Given the description of an element on the screen output the (x, y) to click on. 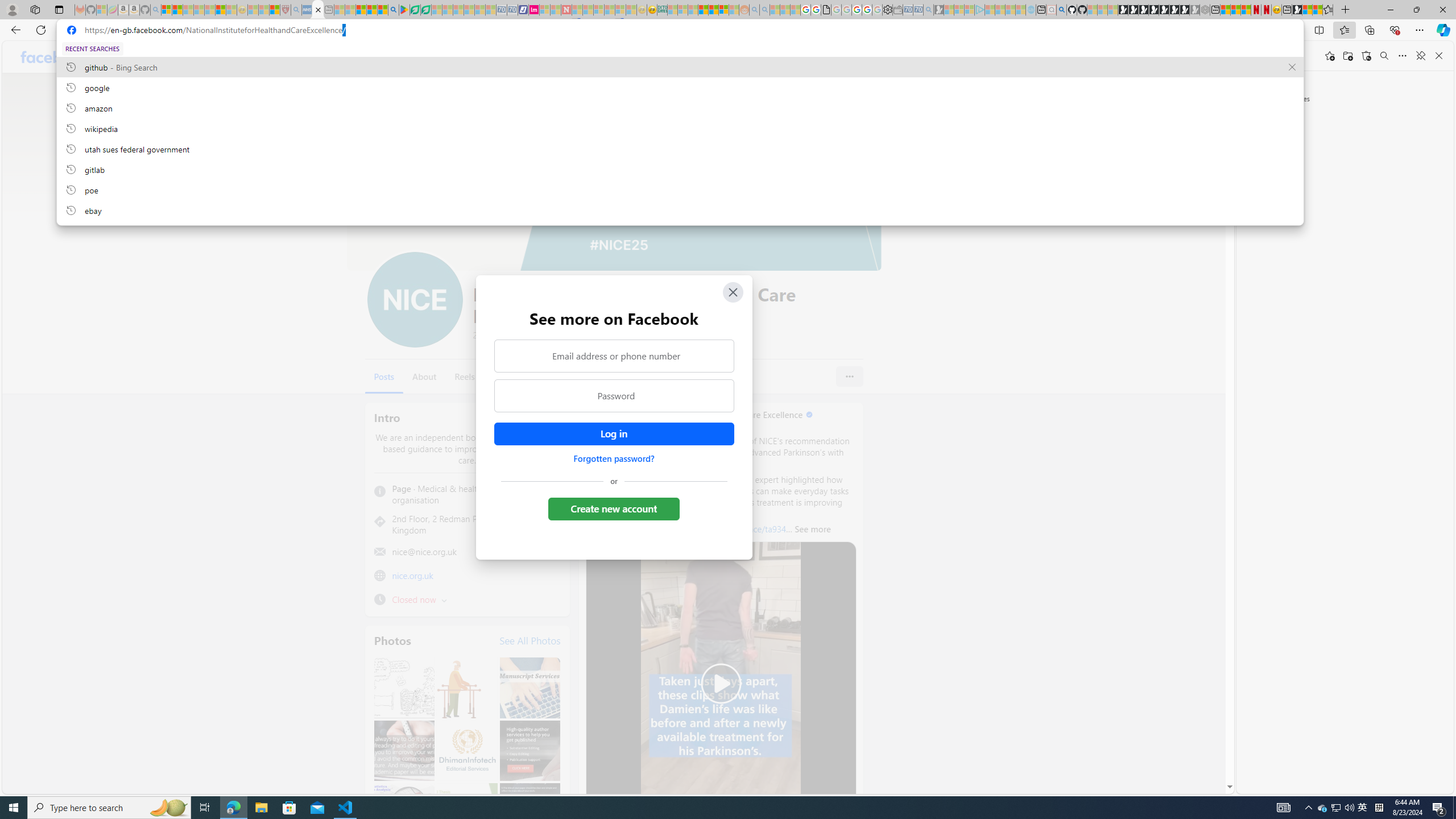
Facebook (55, 56)
google - Search (392, 9)
Microsoft account | Privacy (165, 9)
Email address or phone number (613, 355)
Play Free Online Games | Games from Microsoft Start (1122, 9)
Microsoft Word - consumer-privacy address update 2.2021 (426, 9)
Utah sues federal government - Search - Sleeping (764, 9)
